Given the description of an element on the screen output the (x, y) to click on. 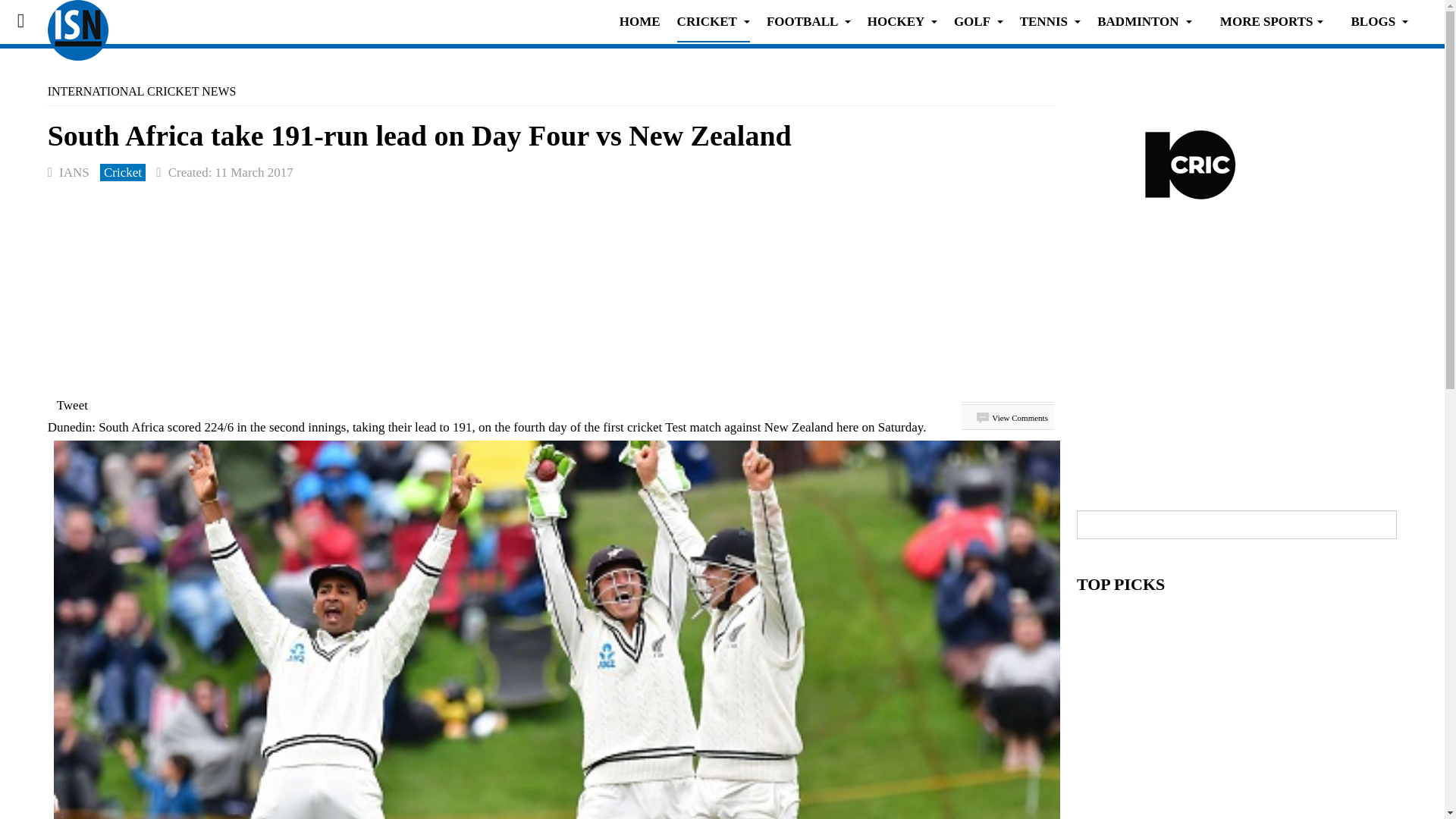
Add a comment (1012, 417)
HOME (640, 21)
FOOTBALL (808, 21)
Advertisement (1236, 367)
Indian Sports News (77, 20)
CRICKET (713, 21)
